Given the description of an element on the screen output the (x, y) to click on. 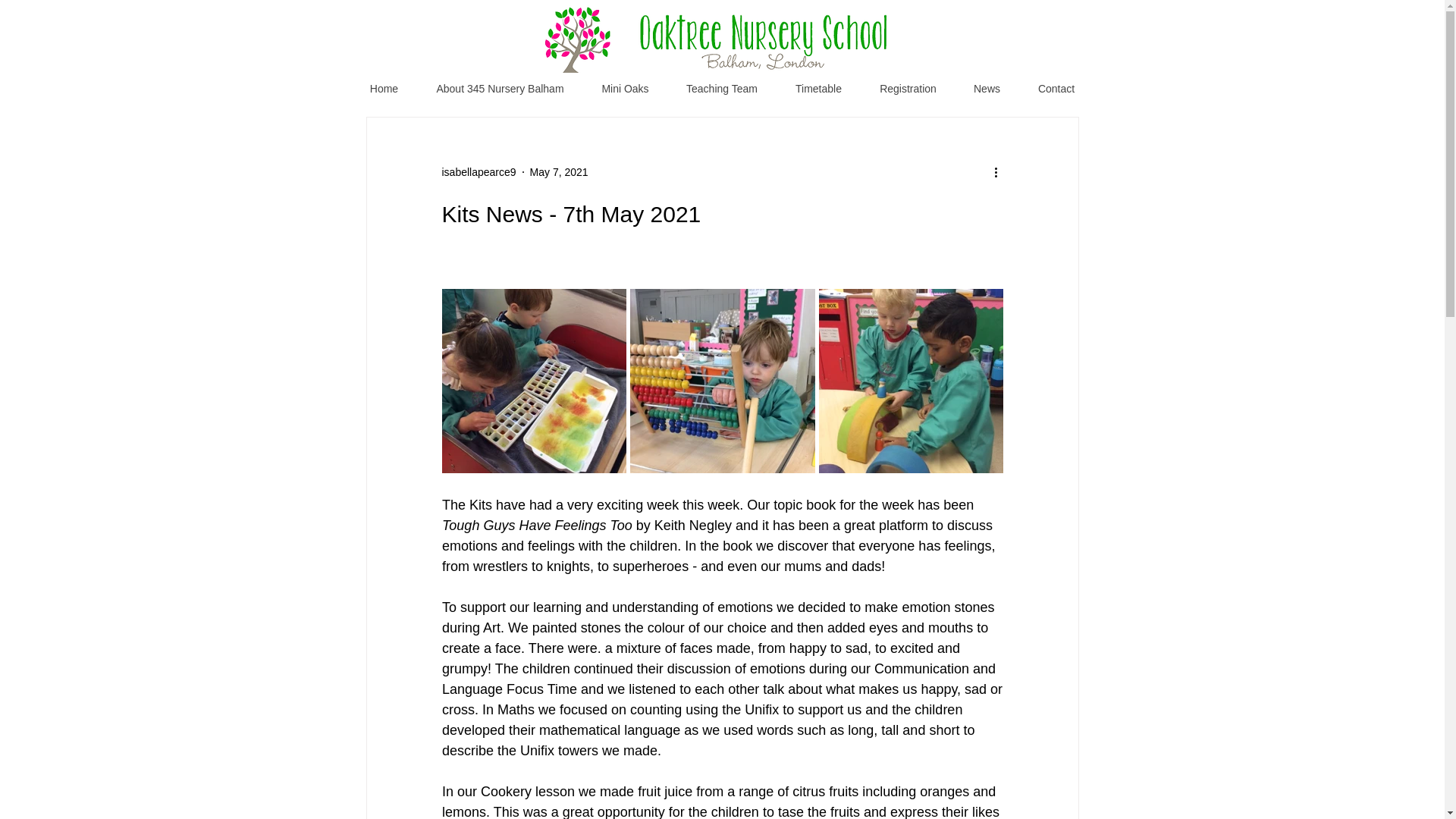
Home (383, 88)
Teaching Team (721, 88)
Timetable (818, 88)
May 7, 2021 (558, 171)
Registration (908, 88)
Mini Oaks (624, 88)
News (987, 88)
About 345 Nursery Balham (499, 88)
isabellapearce9 (478, 171)
Contact (1056, 88)
